Given the description of an element on the screen output the (x, y) to click on. 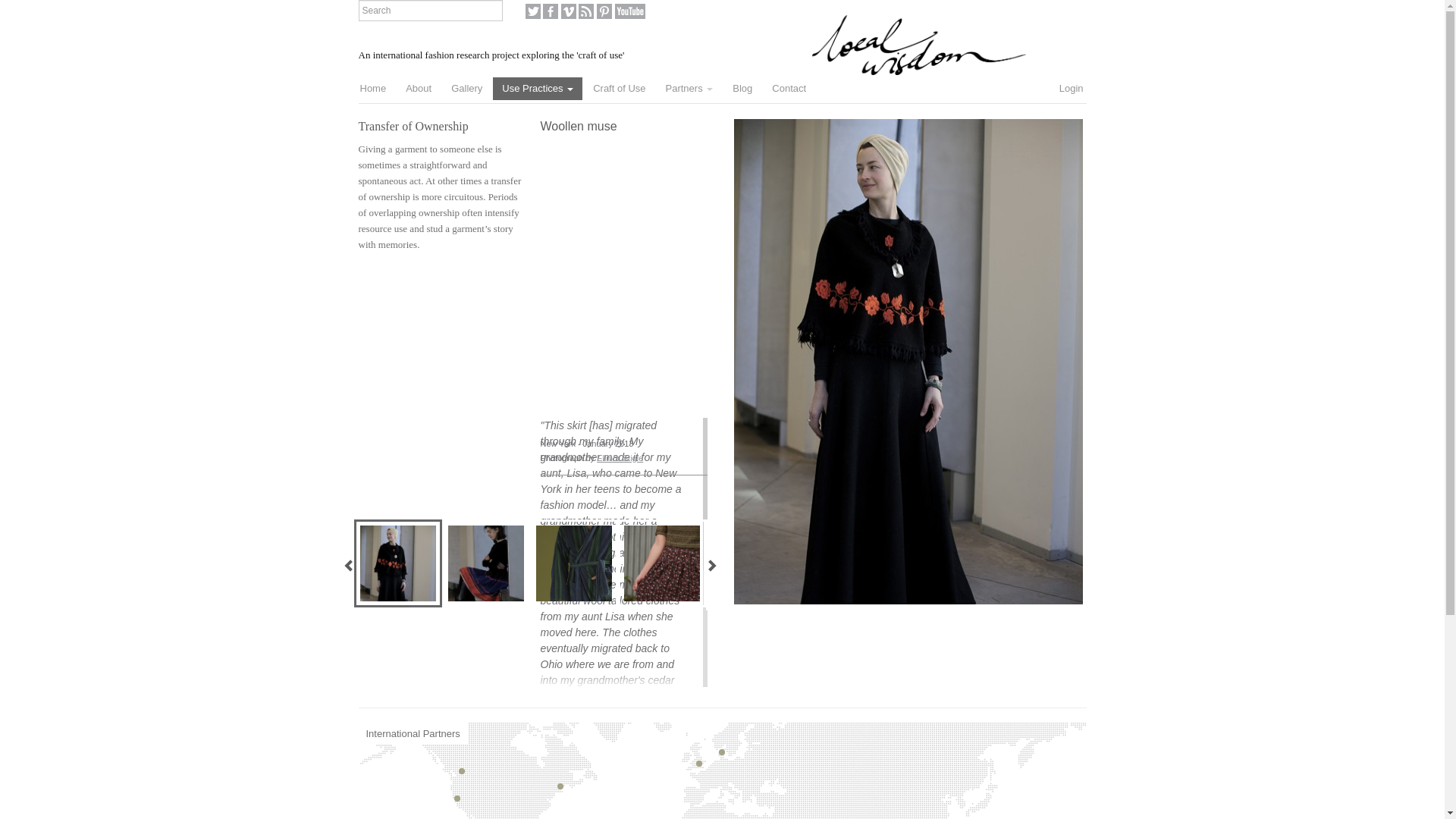
Click for More (484, 563)
Home (372, 87)
Partners (689, 87)
Search (430, 10)
Craft of Use (618, 87)
About (418, 87)
Click for More (749, 563)
Click for More (660, 563)
Click for More (308, 563)
Click for More (397, 563)
